Given the description of an element on the screen output the (x, y) to click on. 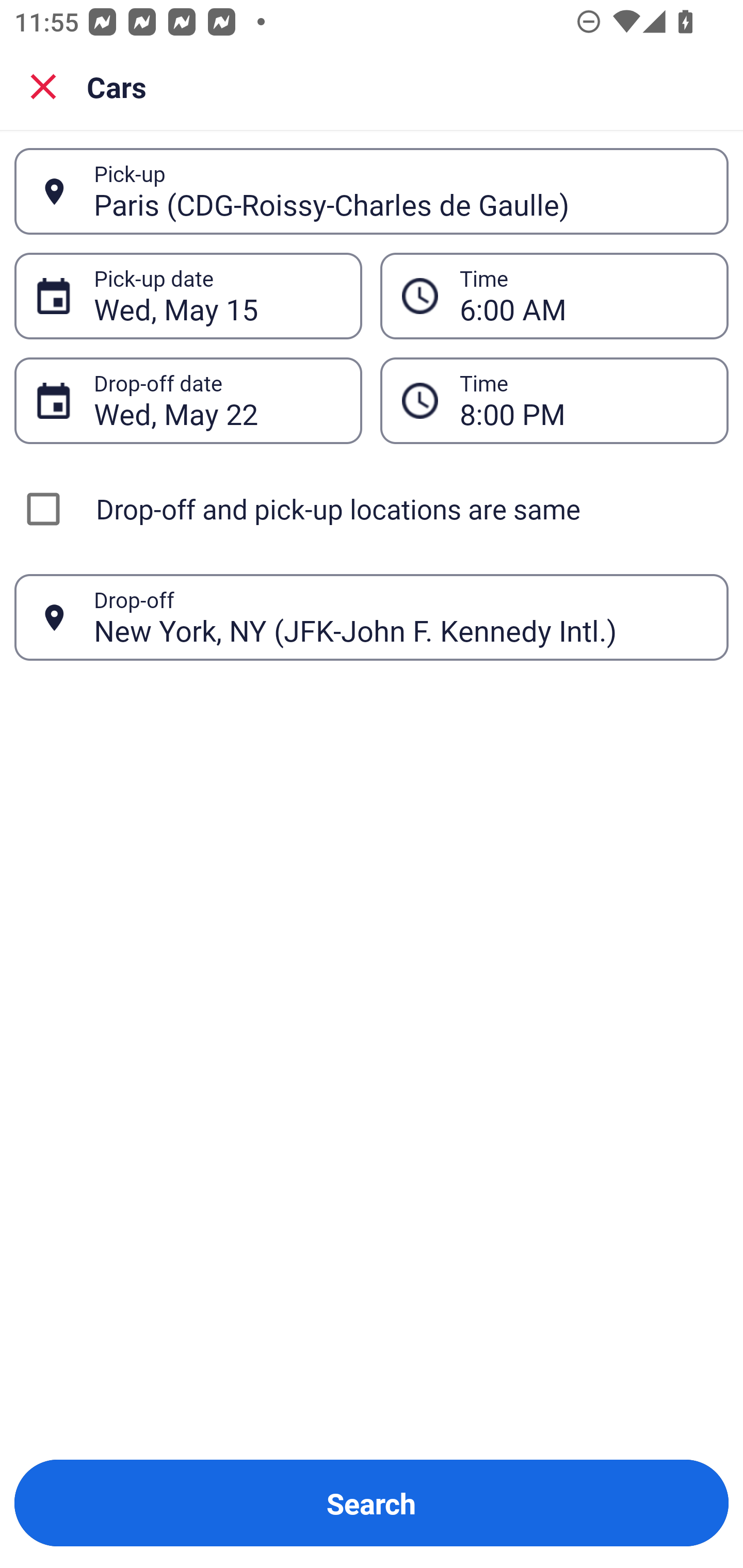
Close search screen (43, 86)
Paris (CDG-Roissy-Charles de Gaulle) Pick-up (371, 191)
Paris (CDG-Roissy-Charles de Gaulle) (399, 191)
Wed, May 15 Pick-up date (188, 295)
6:00 AM (554, 295)
Wed, May 15 (216, 296)
6:00 AM (582, 296)
Wed, May 22 Drop-off date (188, 400)
8:00 PM (554, 400)
Wed, May 22 (216, 400)
8:00 PM (582, 400)
Drop-off and pick-up locations are same (371, 508)
New York, NY (JFK-John F. Kennedy Intl.) Drop-off (371, 616)
New York, NY (JFK-John F. Kennedy Intl.) (399, 616)
Search Button Search (371, 1502)
